Given the description of an element on the screen output the (x, y) to click on. 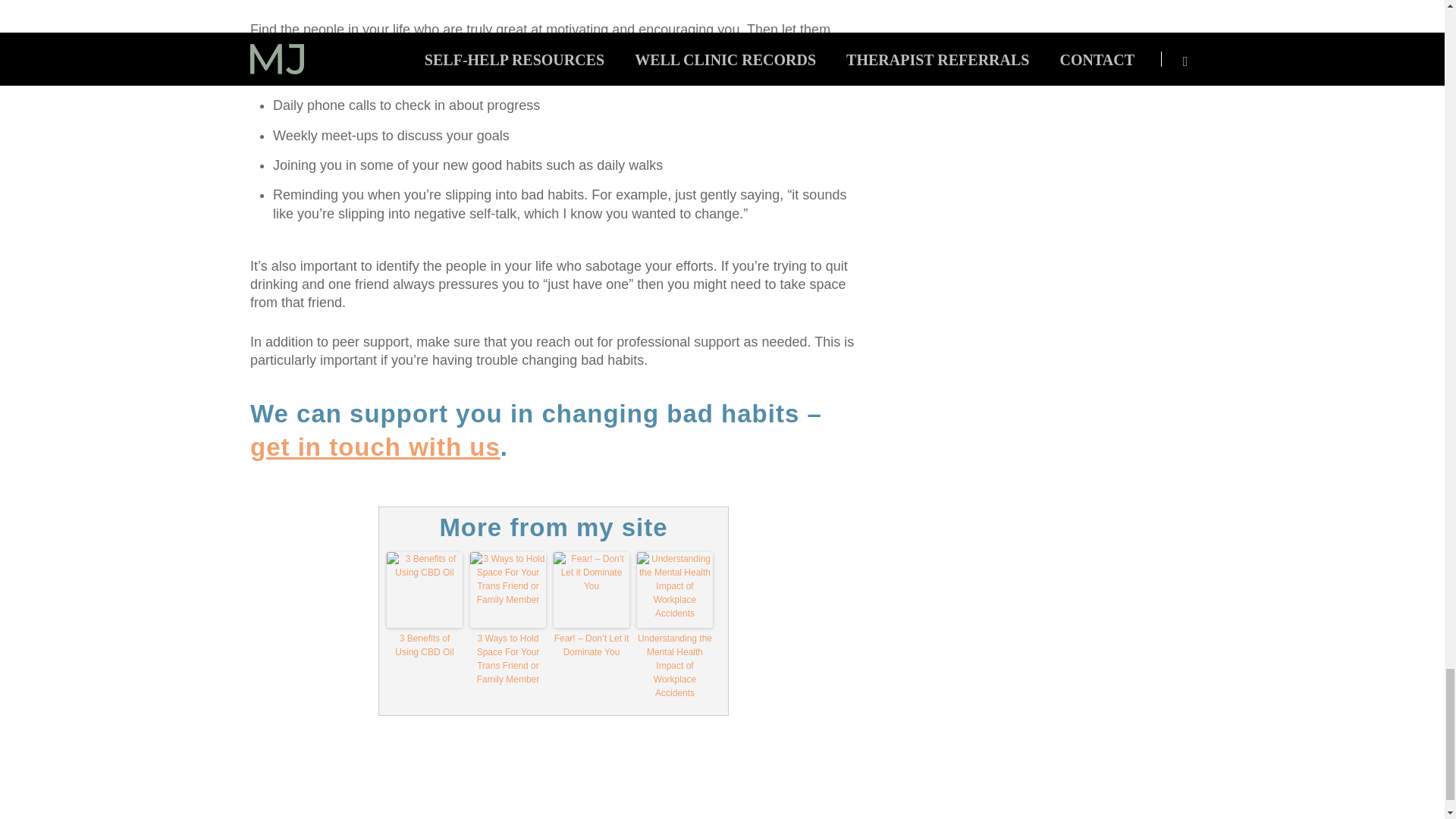
get in touch with us (375, 447)
3 Benefits of Using CBD Oil (425, 645)
3 Ways to Hold Space For Your Trans Friend or Family Member (508, 658)
